Given the description of an element on the screen output the (x, y) to click on. 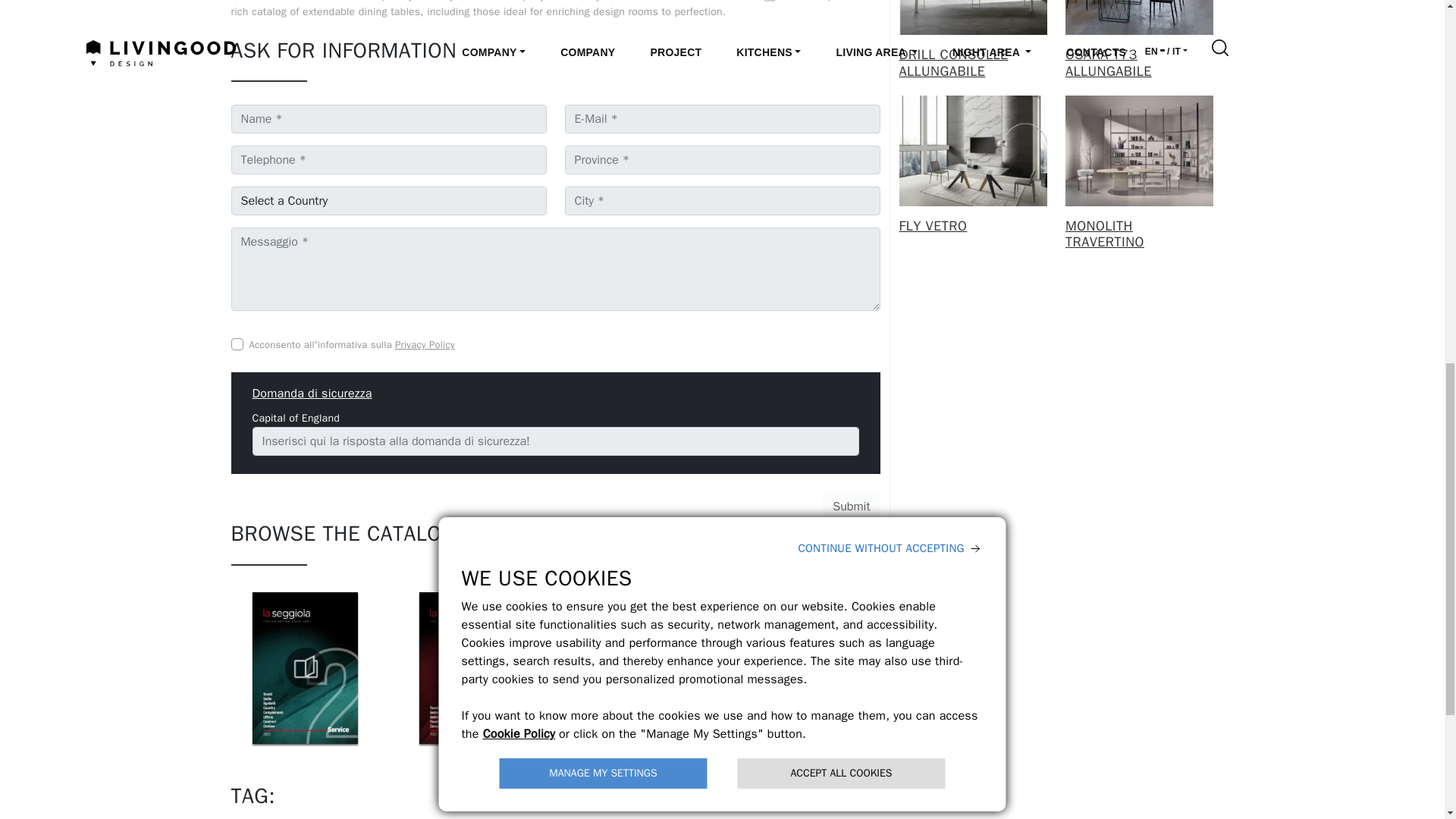
Privacy Policy (424, 344)
Submit (850, 506)
on (236, 344)
